Given the description of an element on the screen output the (x, y) to click on. 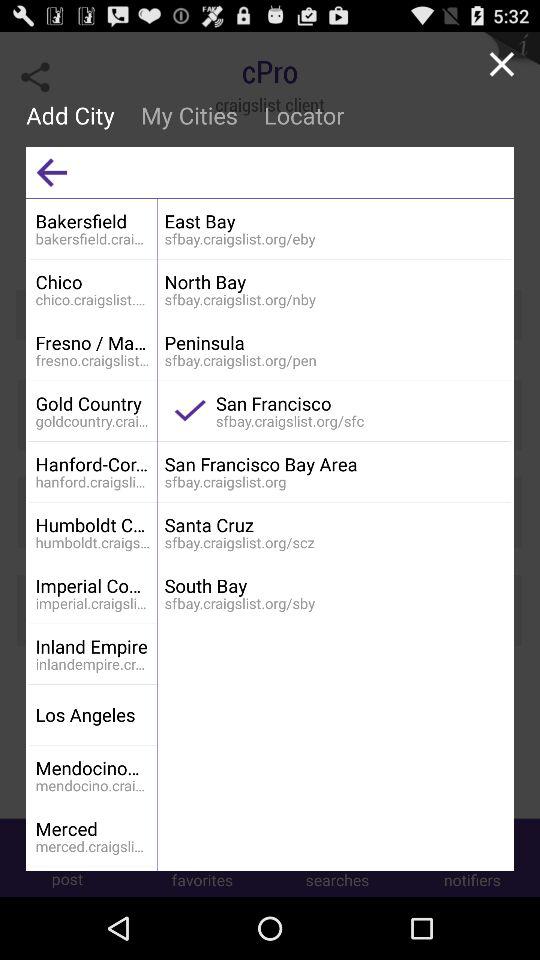
jump until the south bay app (334, 585)
